Given the description of an element on the screen output the (x, y) to click on. 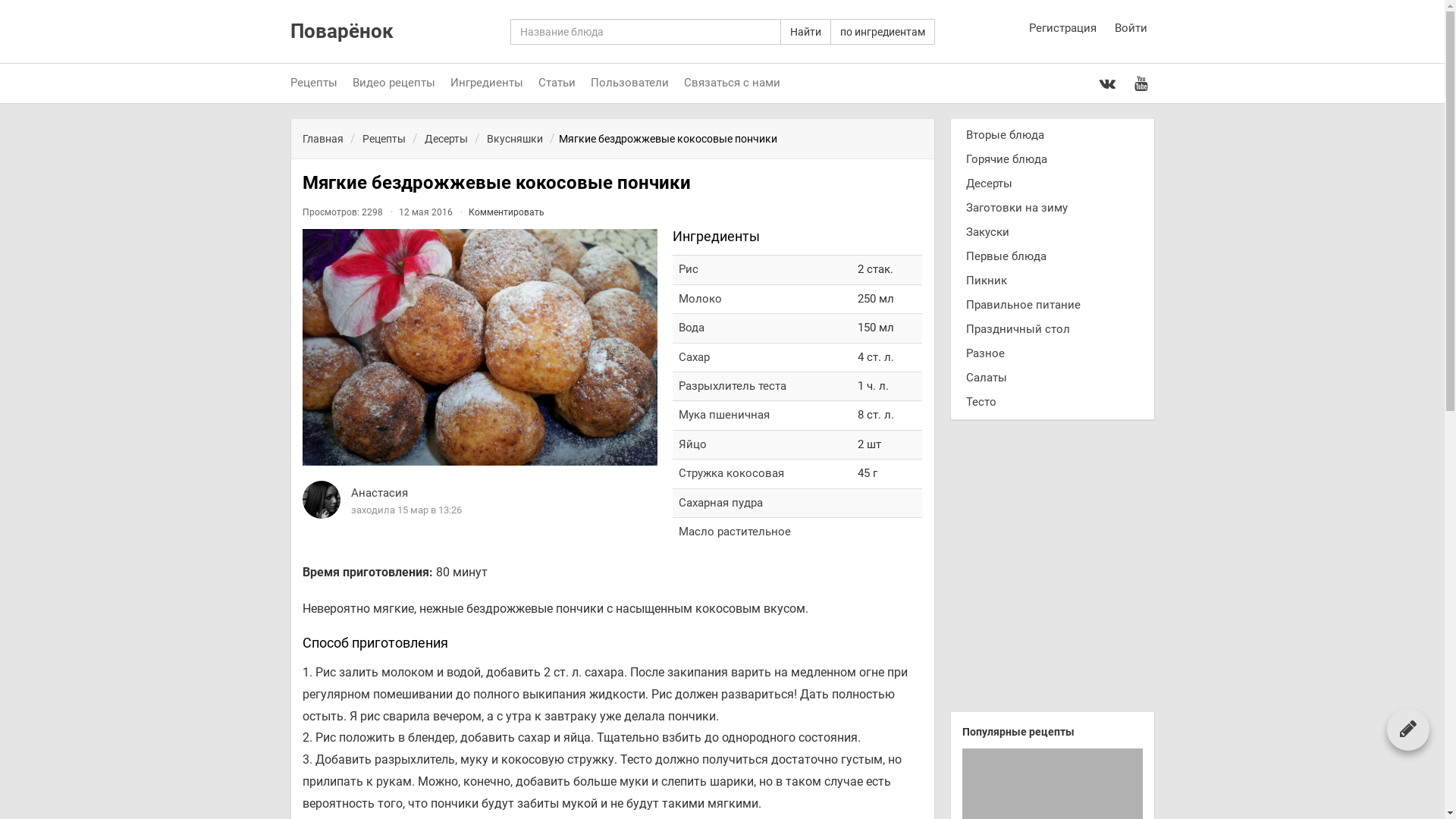
Advertisement Element type: hover (1051, 572)
